Given the description of an element on the screen output the (x, y) to click on. 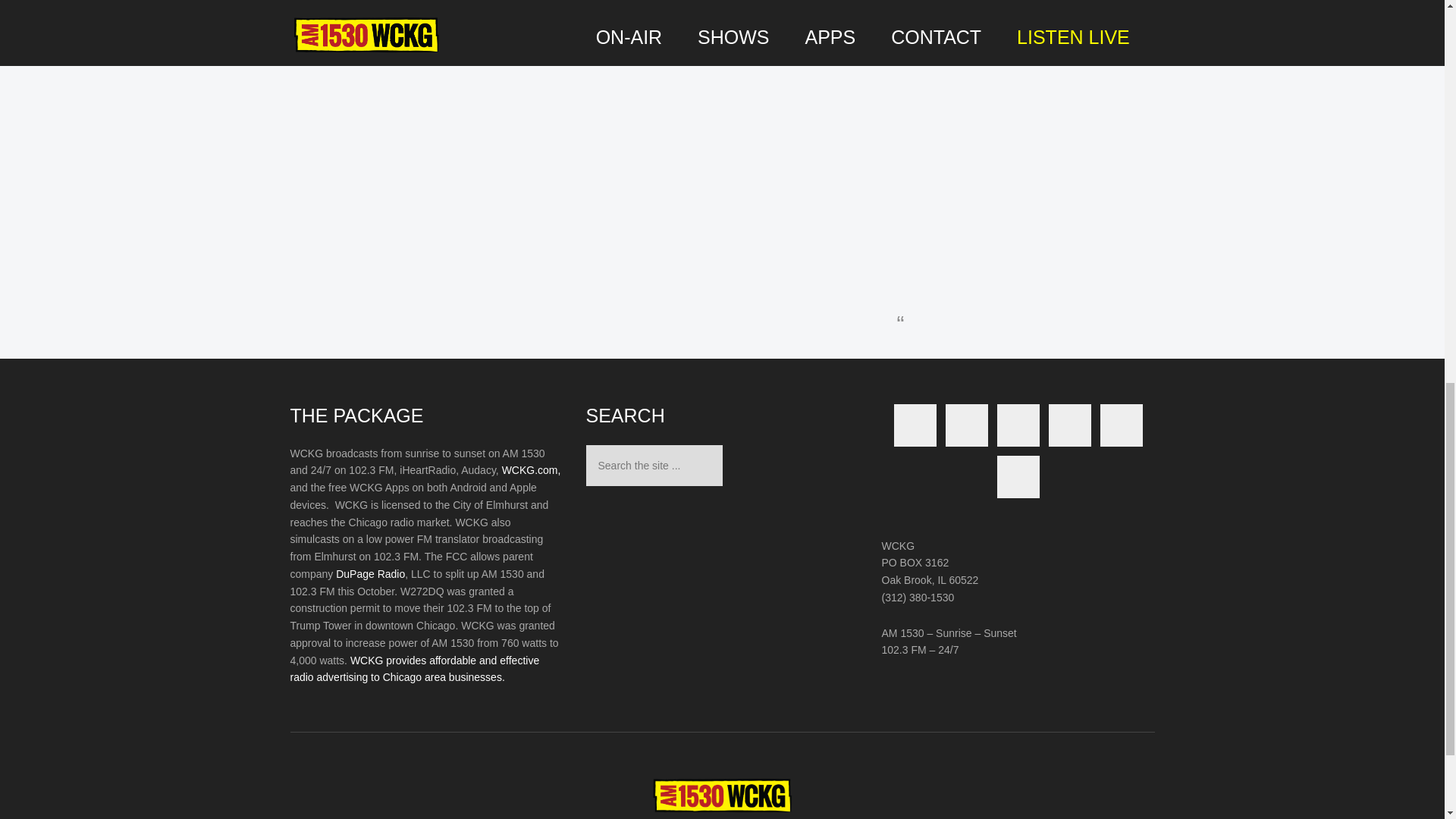
Page 1 (425, 565)
